Given the description of an element on the screen output the (x, y) to click on. 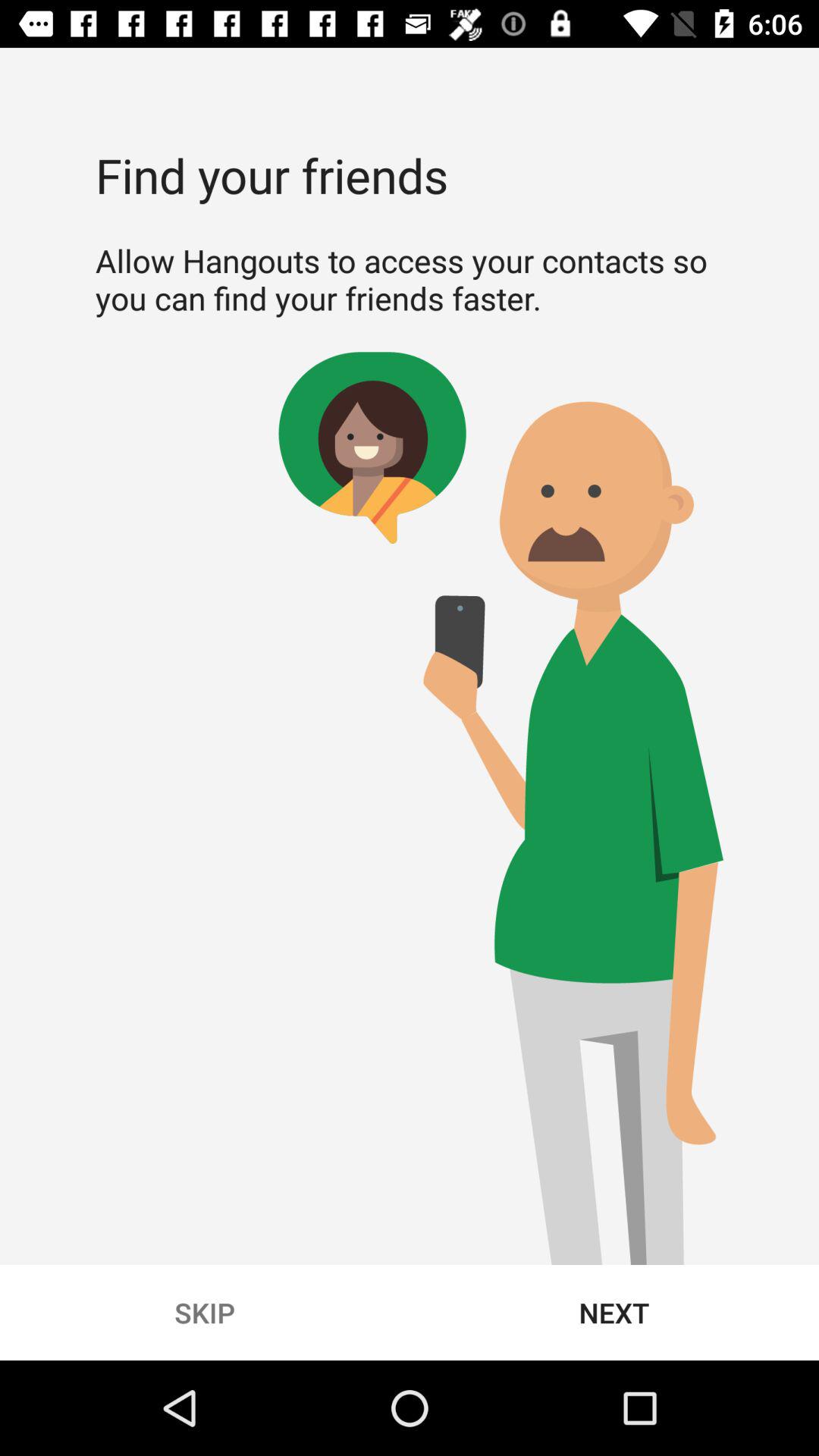
jump to the skip icon (204, 1312)
